Given the description of an element on the screen output the (x, y) to click on. 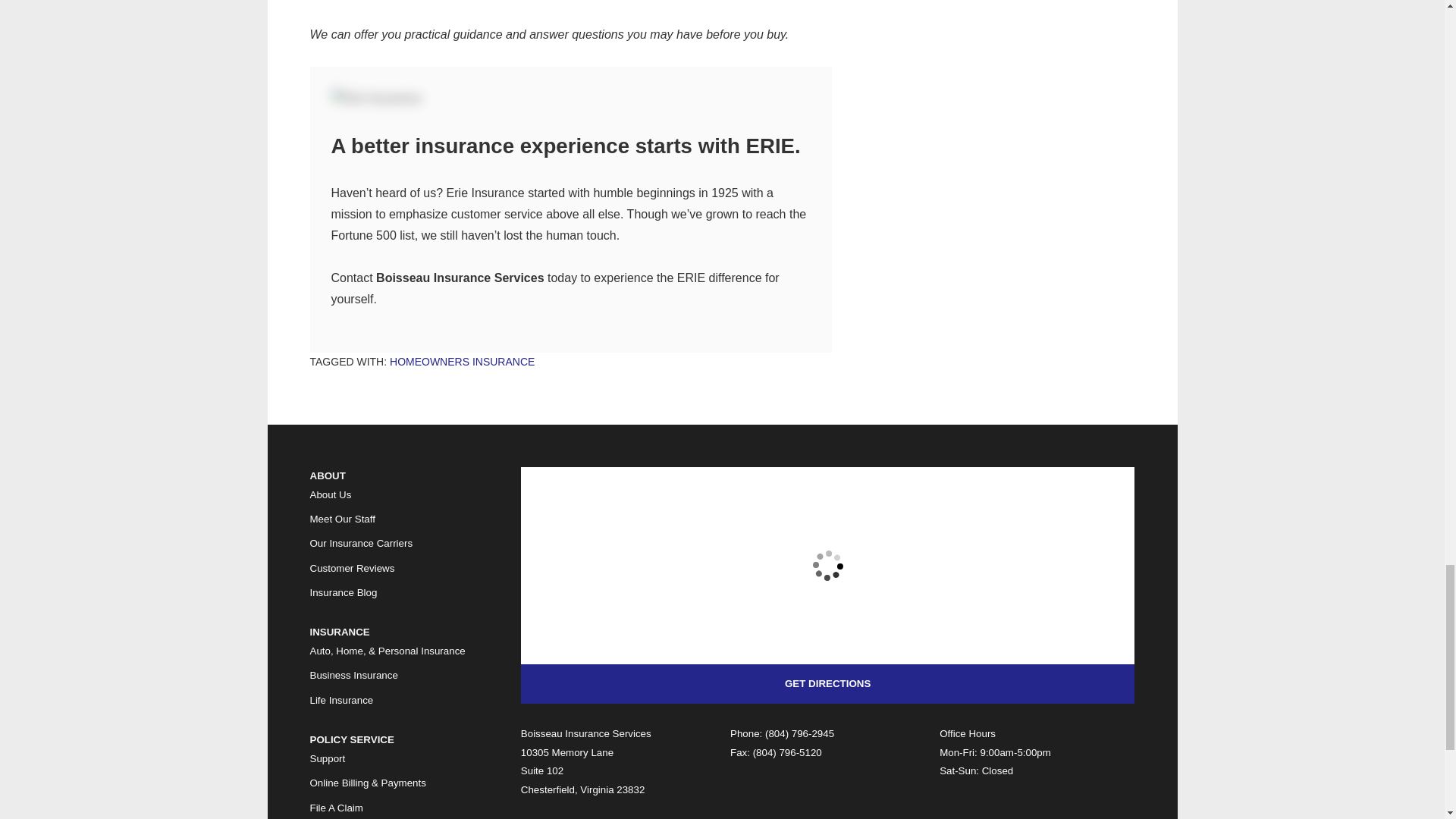
Homeowners Insurance (462, 361)
